Given the description of an element on the screen output the (x, y) to click on. 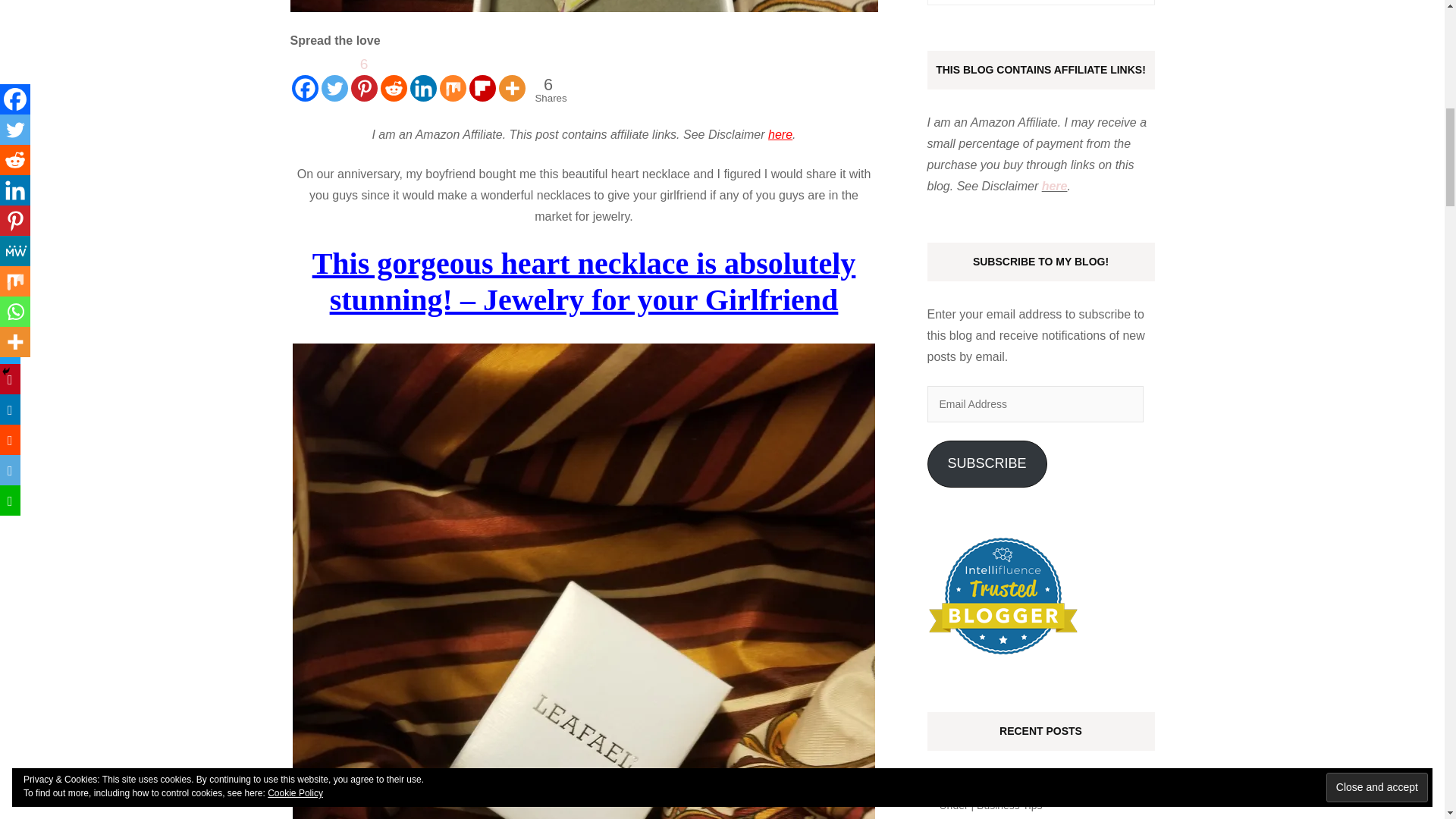
Total Shares (548, 89)
